Given the description of an element on the screen output the (x, y) to click on. 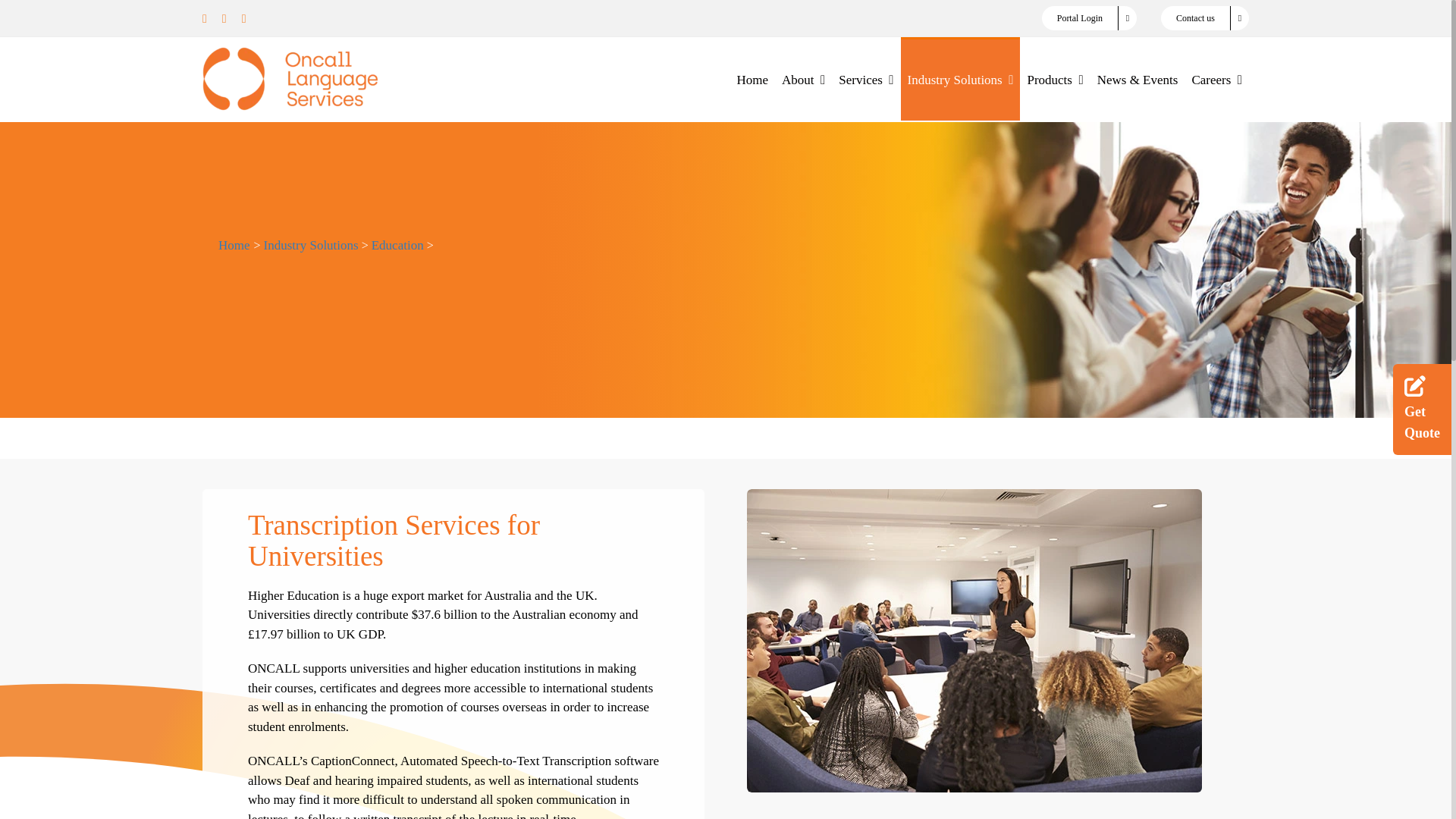
Portal Login (1089, 17)
Industry Solutions (310, 245)
Contact us (1204, 17)
Education (397, 245)
Industry Solutions (960, 78)
